Given the description of an element on the screen output the (x, y) to click on. 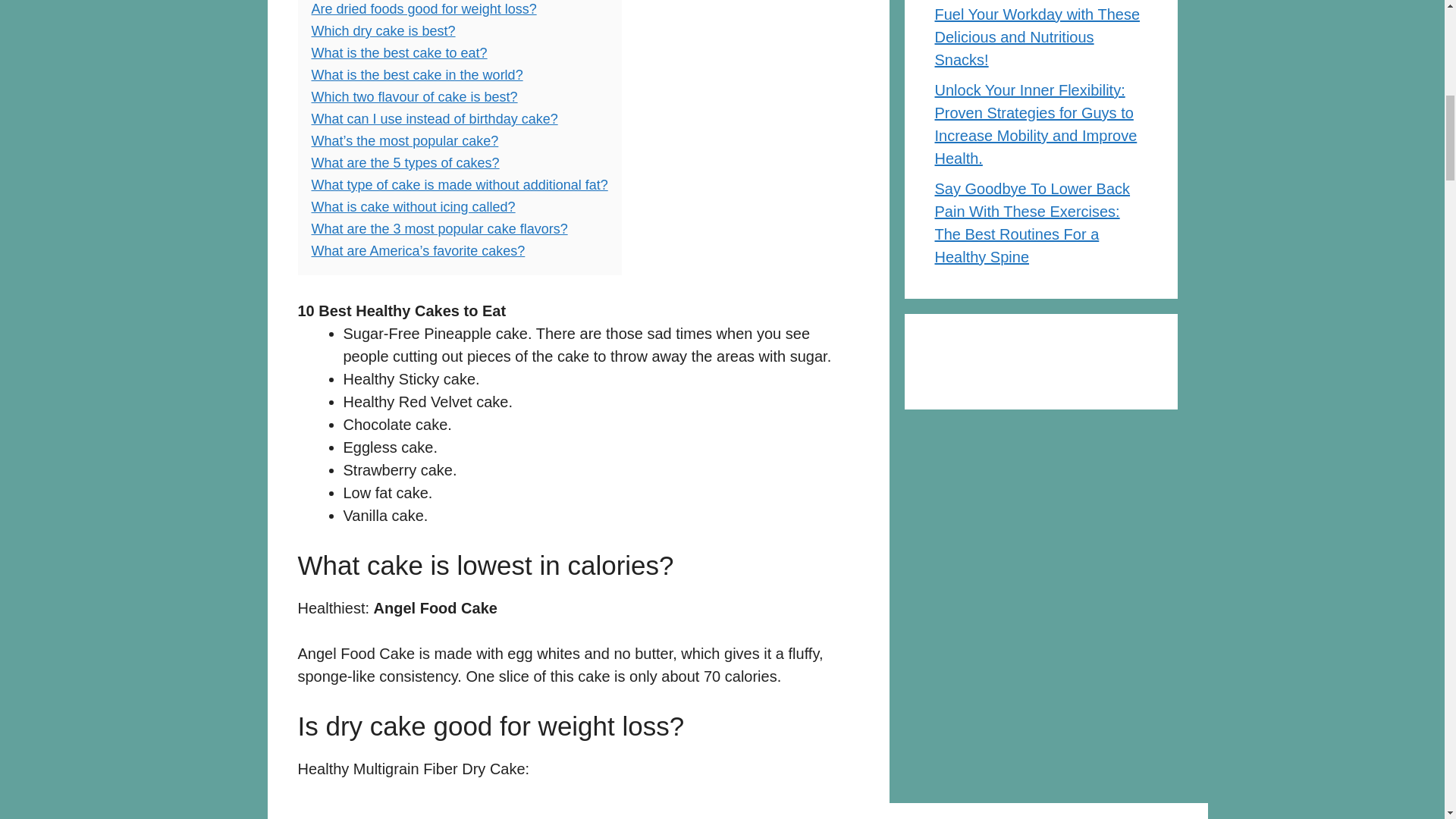
What type of cake is made without additional fat? (459, 184)
What can I use instead of birthday cake? (434, 118)
Advertisement (1040, 531)
Are dried foods good for weight loss? (423, 8)
What are the 3 most popular cake flavors? (439, 228)
Which dry cake is best? (382, 30)
Which two flavour of cake is best? (413, 96)
Scroll back to top (1406, 720)
What is the best cake in the world? (416, 74)
What are the 5 types of cakes? (405, 162)
